Given the description of an element on the screen output the (x, y) to click on. 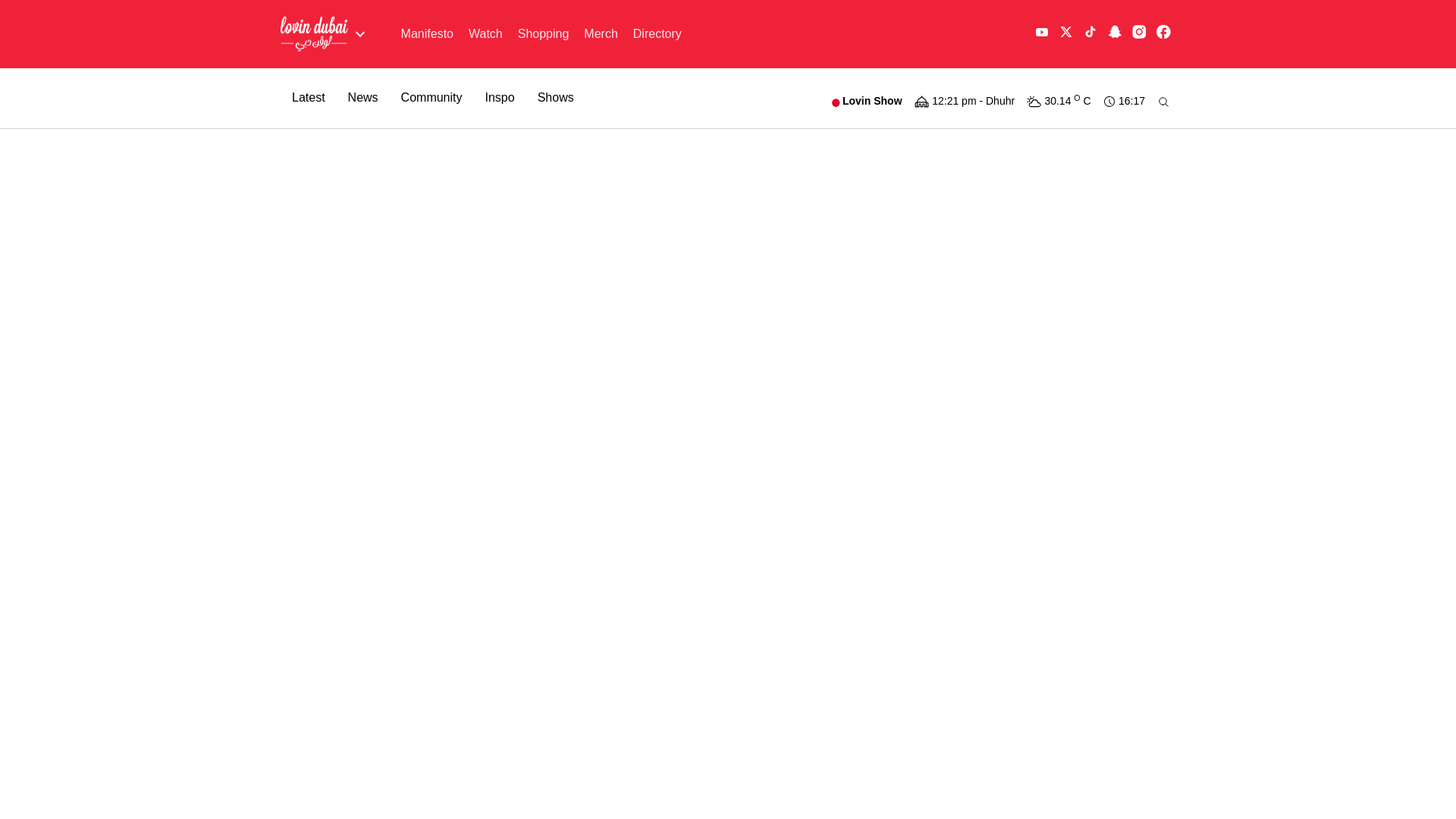
News (362, 97)
Merch (600, 33)
Latest (308, 97)
Shopping (543, 33)
Watch (486, 33)
Directory (657, 33)
Manifesto (427, 33)
Community (431, 97)
